Given the description of an element on the screen output the (x, y) to click on. 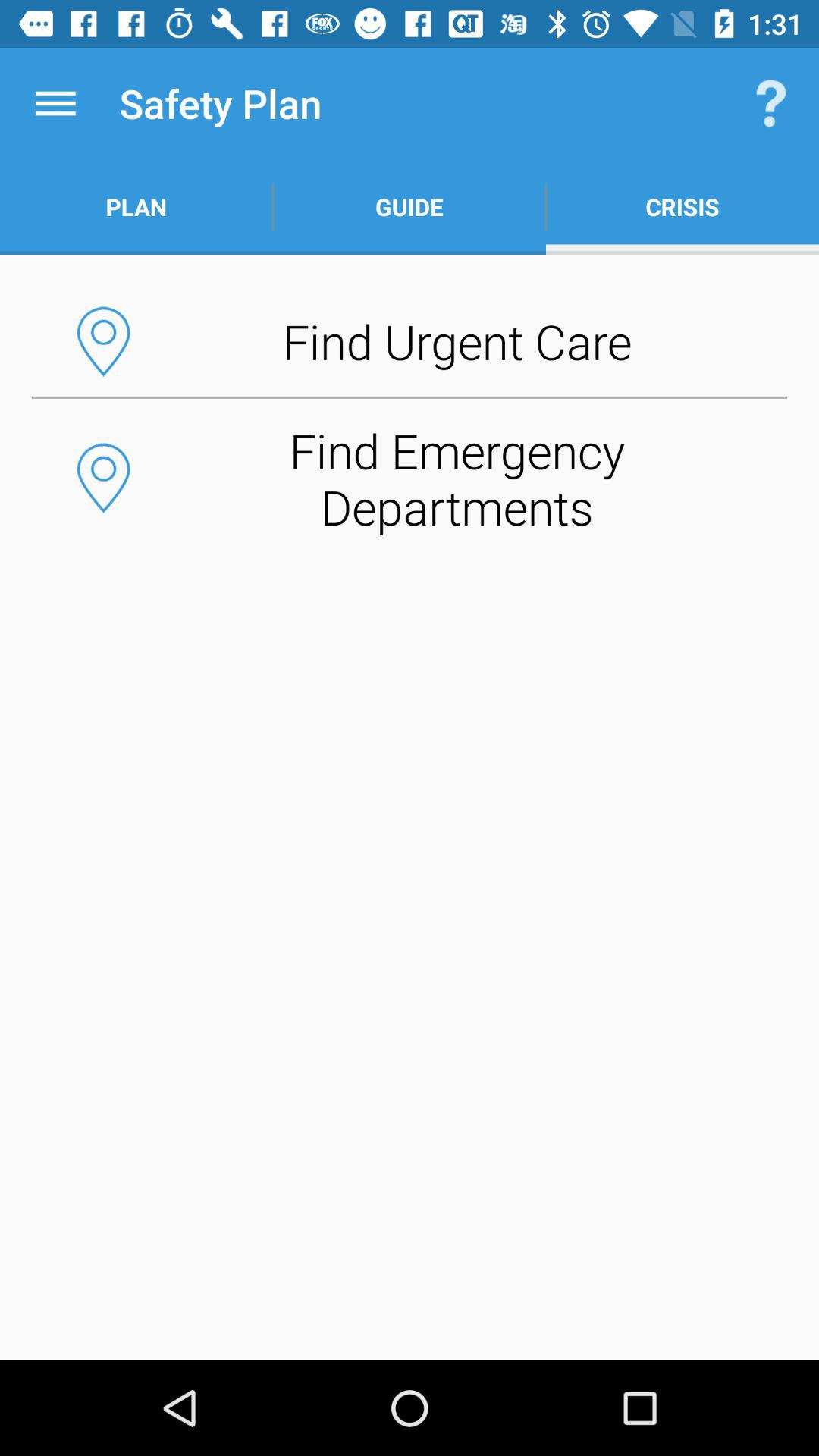
press the find urgent care button (409, 341)
